Given the description of an element on the screen output the (x, y) to click on. 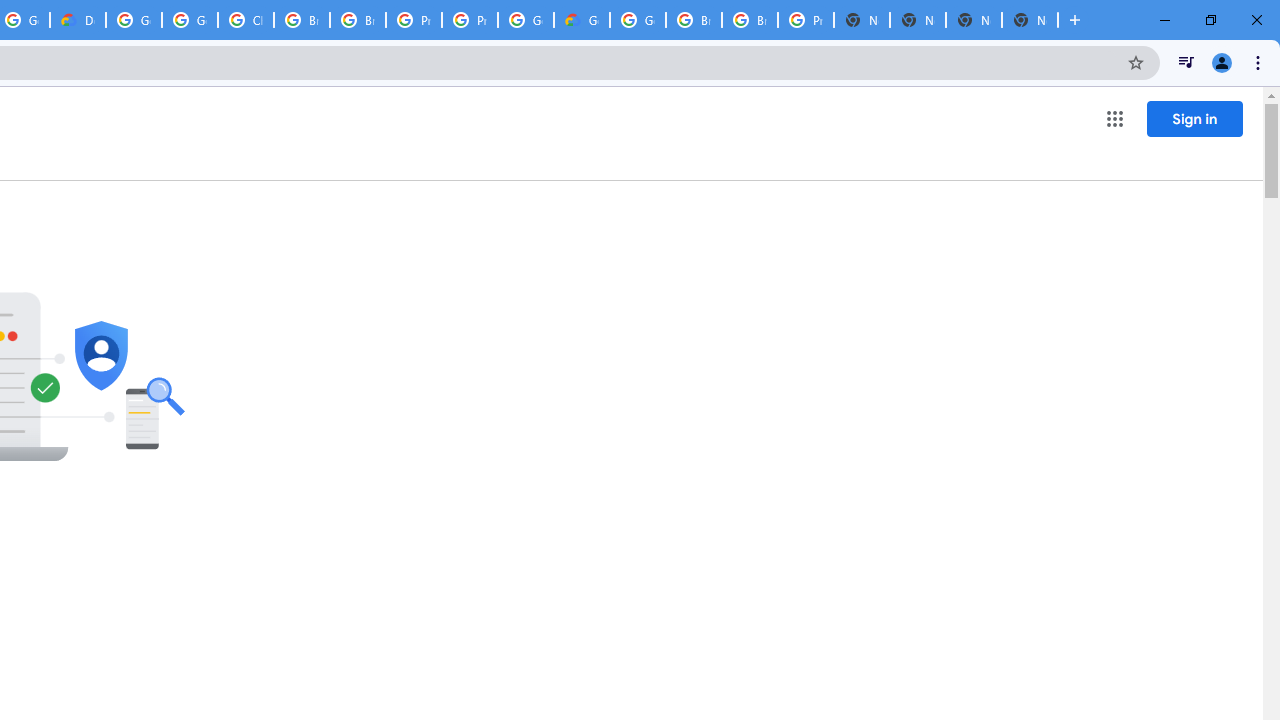
New Tab (861, 20)
Google Cloud Estimate Summary (582, 20)
Google Cloud Platform (637, 20)
Google Cloud Platform (525, 20)
New Tab (973, 20)
